Given the description of an element on the screen output the (x, y) to click on. 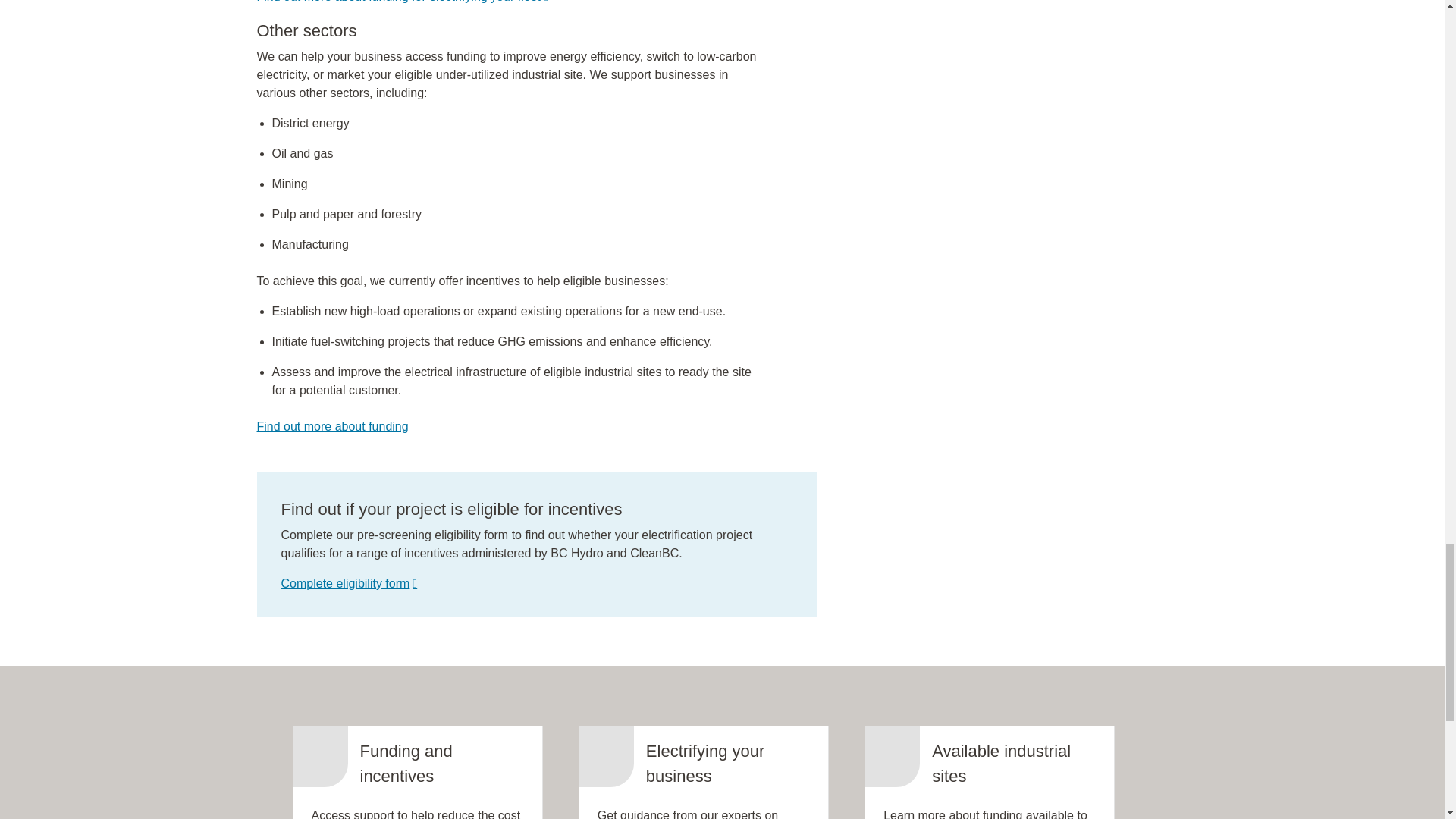
Support and incentives (331, 426)
